Given the description of an element on the screen output the (x, y) to click on. 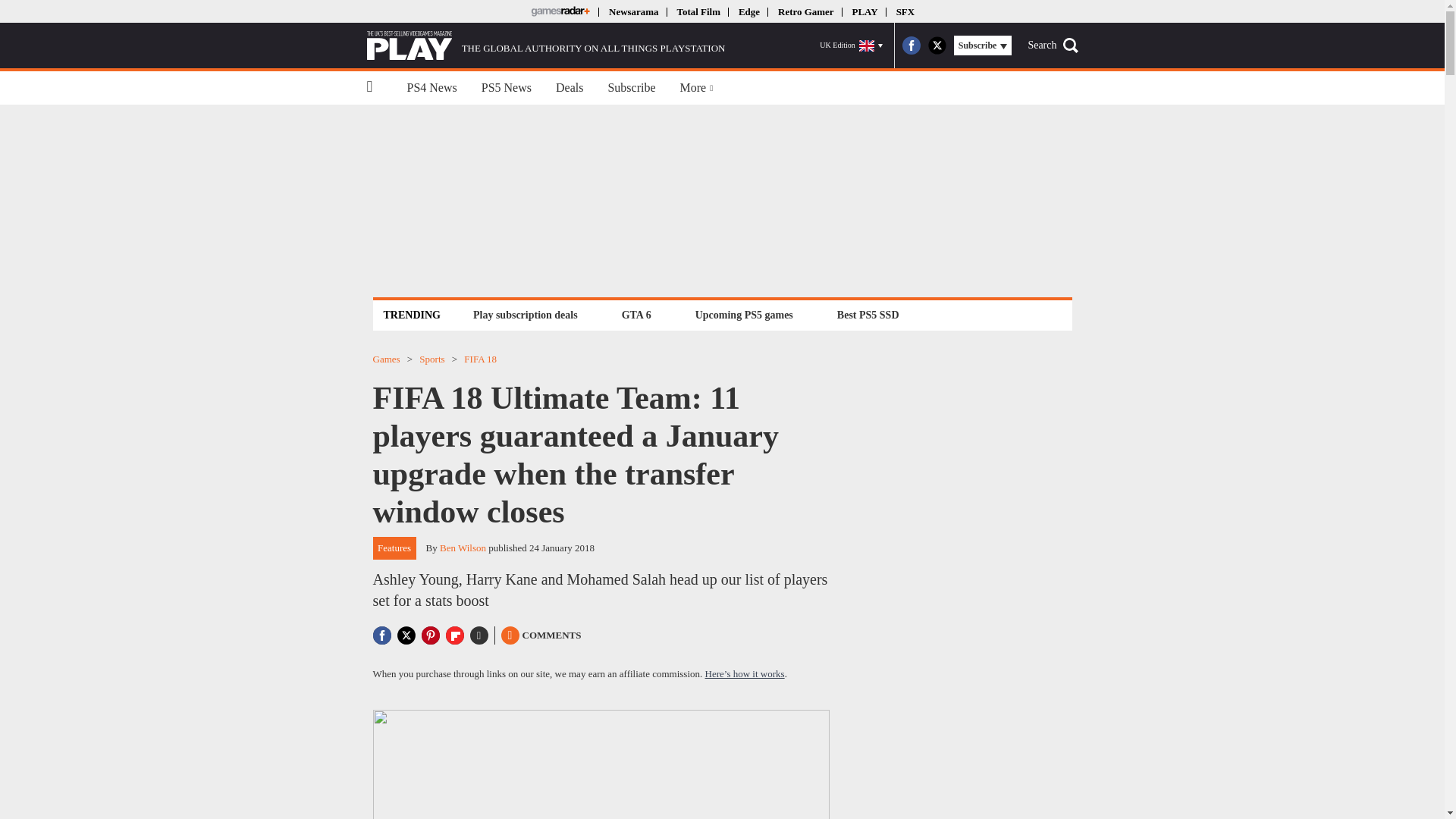
PS4 News (431, 87)
THE GLOBAL AUTHORITY ON ALL THINGS PLAYSTATION (545, 44)
Upcoming PS5 games (743, 314)
Deals (569, 87)
SFX (905, 11)
Total Film (698, 11)
Newsarama (633, 11)
PS5 News (505, 87)
Subscribe (630, 87)
UK Edition (850, 45)
